Given the description of an element on the screen output the (x, y) to click on. 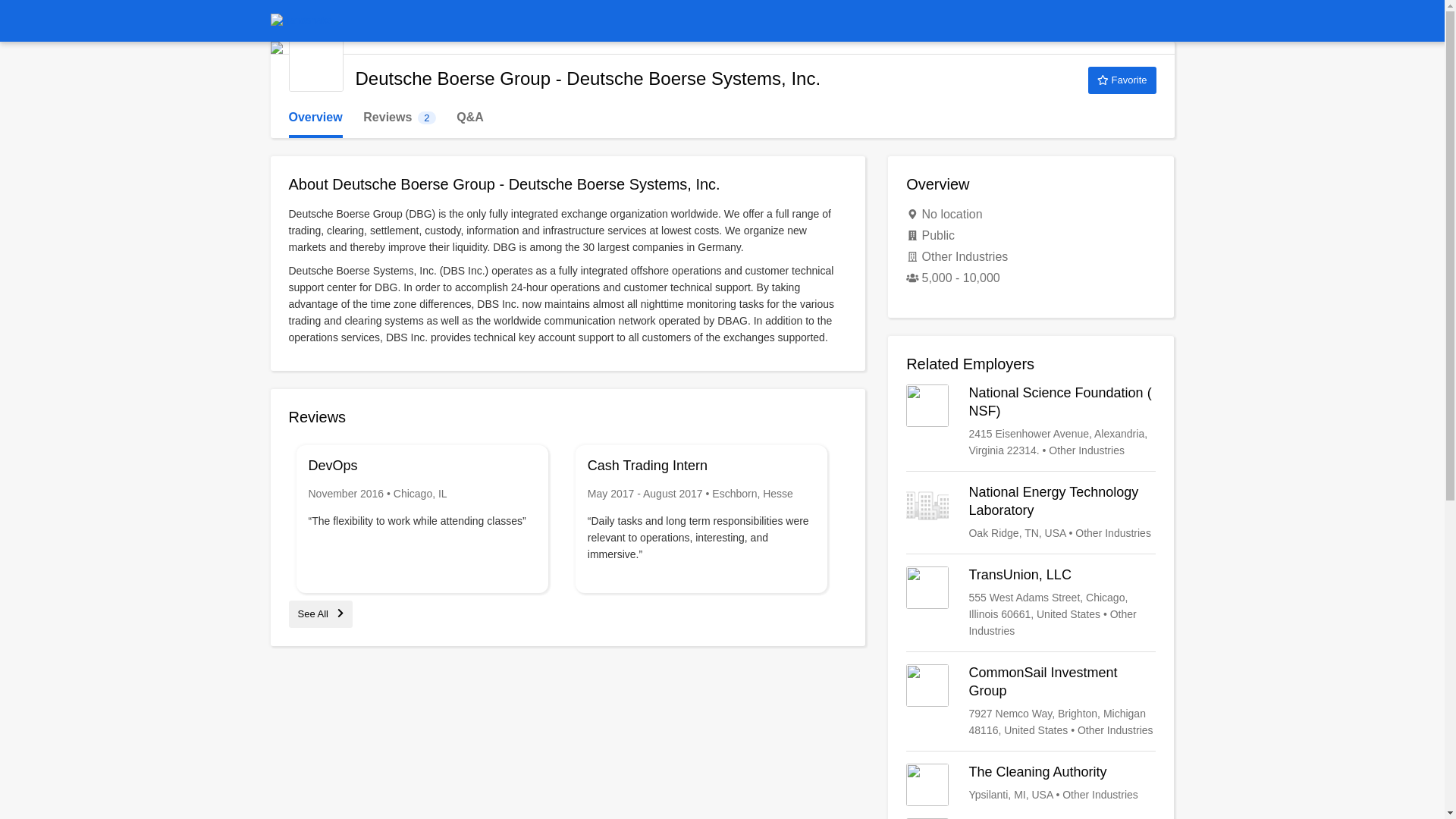
National Energy Technology Laboratory (1030, 512)
Overview (315, 117)
TransUnion, LLC (1030, 602)
Favorite (398, 117)
Deutsche Boerse Group - Deutsche Boerse Systems, Inc. (1121, 80)
CommonSail Investment Group (315, 63)
See All (1030, 701)
The Cleaning Authority (320, 613)
